Given the description of an element on the screen output the (x, y) to click on. 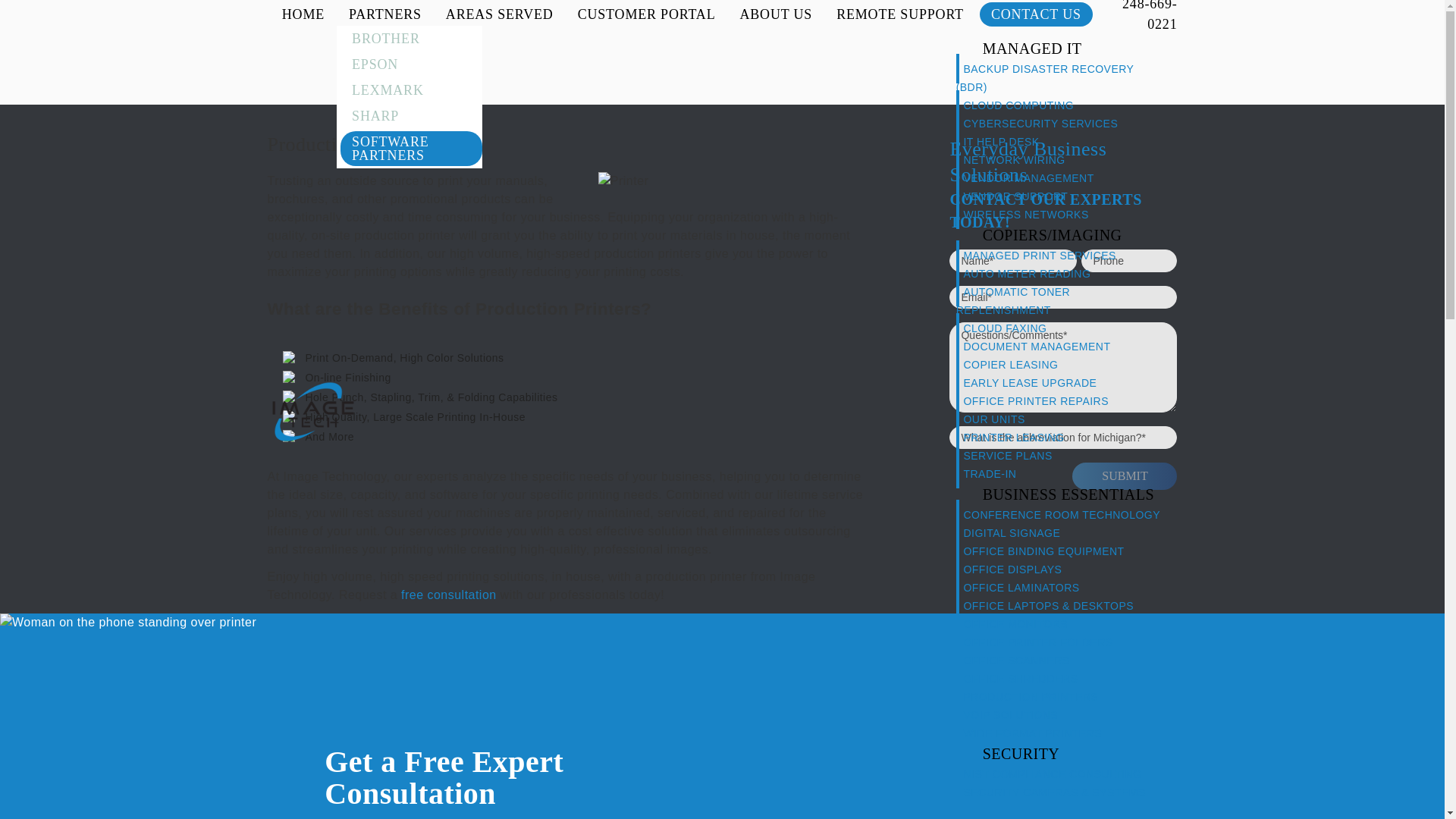
VENDOR MANAGEMENT (1032, 177)
MANAGED PRINT SERVICES (1042, 255)
PARTNERS (384, 14)
ABOUT US (775, 14)
Home (312, 411)
SHARP (408, 115)
OFFICE PRINTER REPAIRS (1039, 400)
WIRELESS NETWORKS (1029, 214)
IT HELP DESK (1004, 141)
CYBERSECURITY SERVICES (1043, 123)
